Given the description of an element on the screen output the (x, y) to click on. 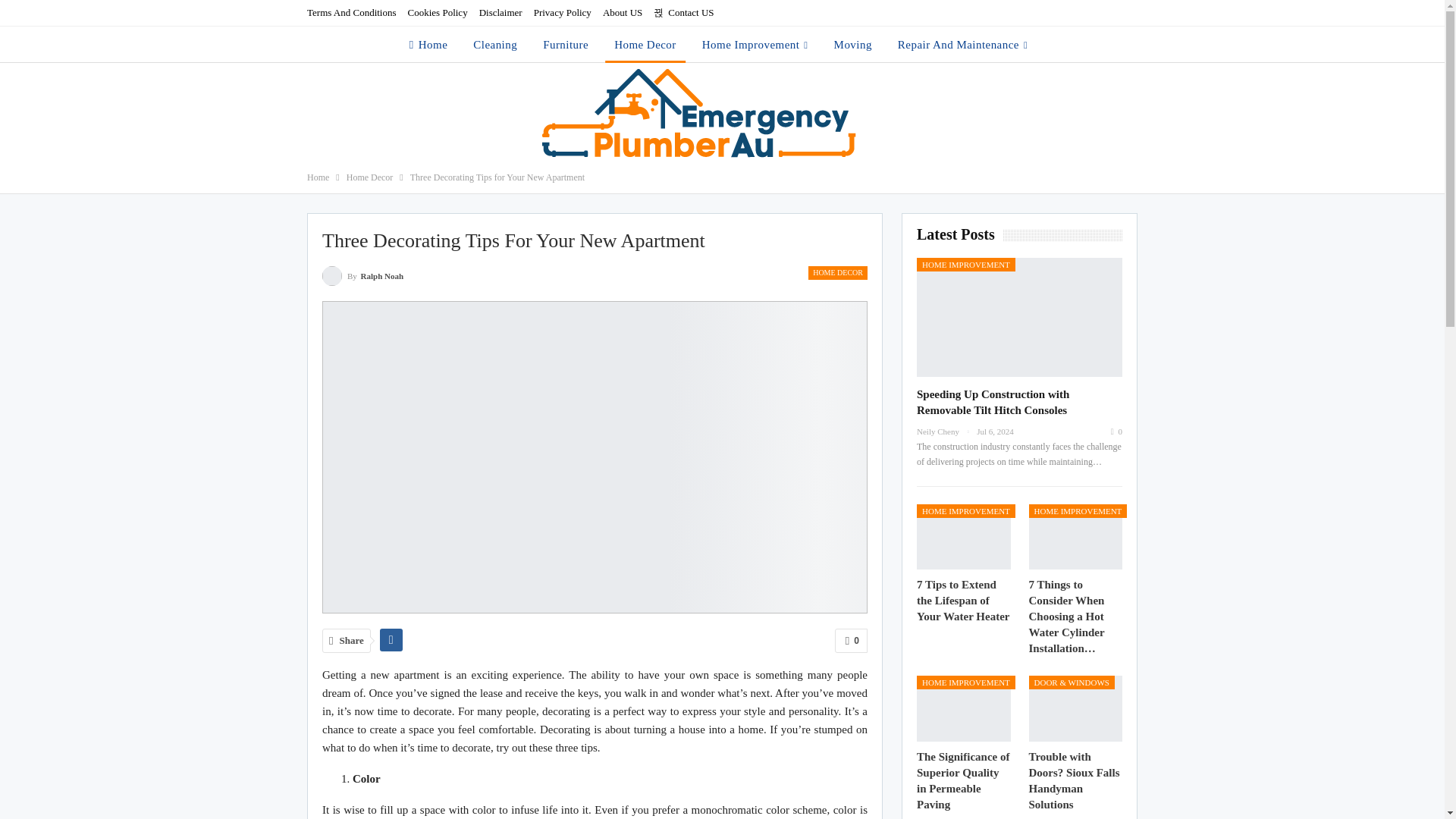
Home Decor (645, 44)
0 (850, 640)
Terms And Conditions (351, 12)
Privacy Policy (562, 12)
Moving (852, 44)
Repair And Maintenance (962, 44)
Home Improvement (754, 44)
Cleaning (494, 44)
Home Decor (369, 176)
Disclaimer (500, 12)
Furniture (565, 44)
About US (622, 12)
Contact US (683, 12)
Cookies Policy (437, 12)
Home (318, 176)
